Given the description of an element on the screen output the (x, y) to click on. 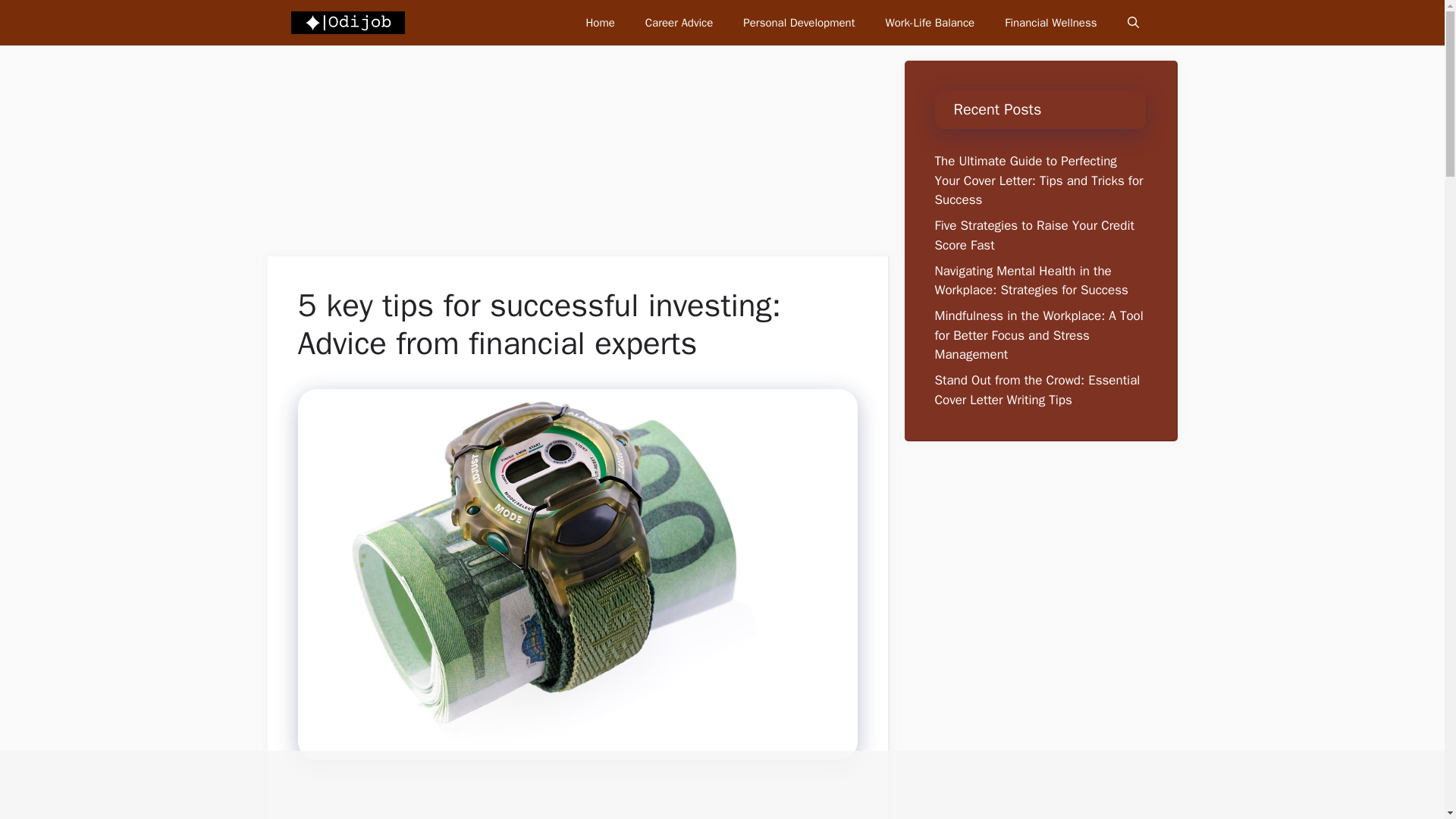
Work-Life Balance (929, 22)
Five Strategies to Raise Your Credit Score Fast (1034, 235)
Personal Development (798, 22)
Financial Wellness (1051, 22)
ODI JOB (347, 22)
Home (599, 22)
Career Advice (679, 22)
